Given the description of an element on the screen output the (x, y) to click on. 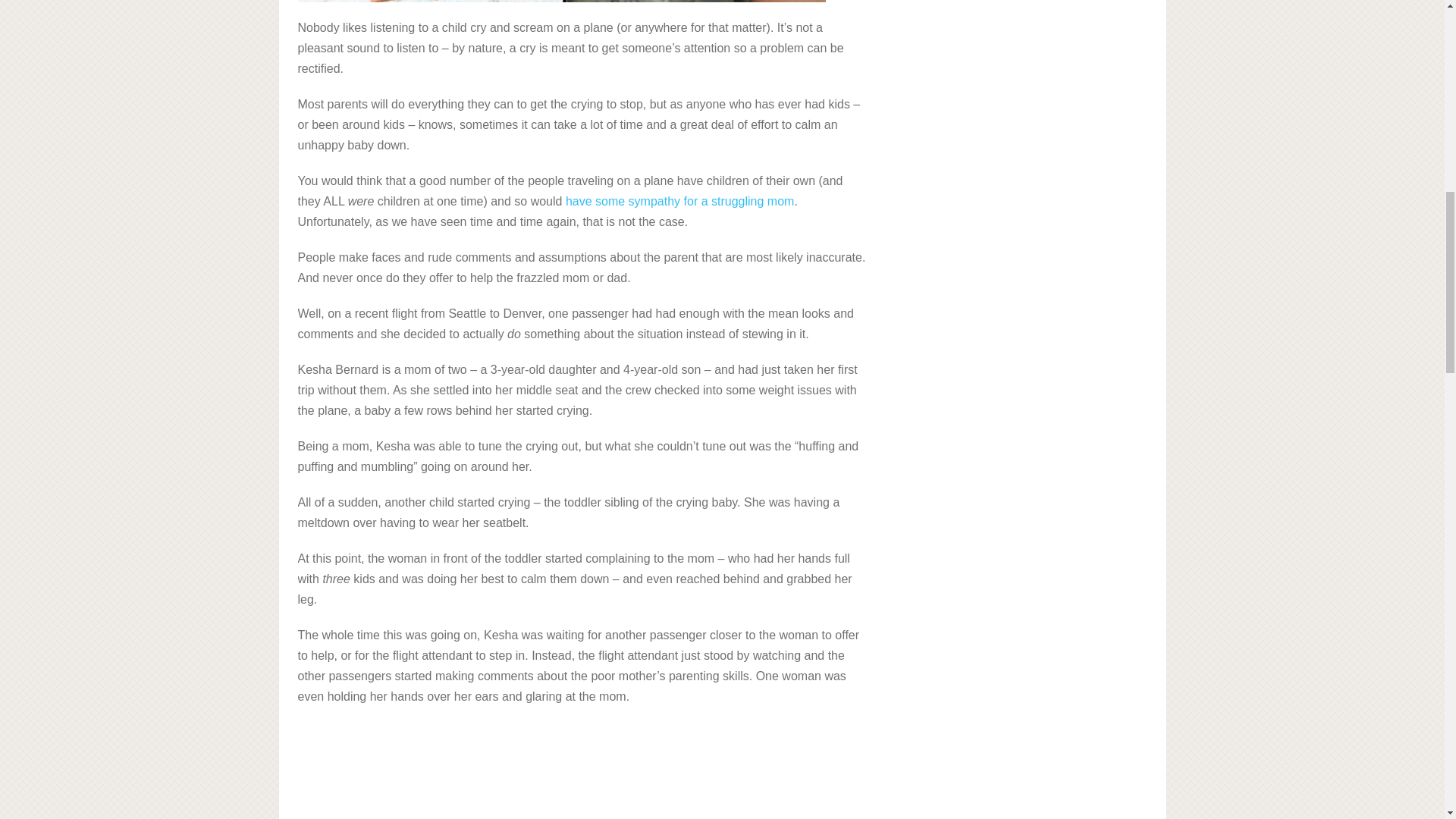
have some sympathy for a struggling mom (679, 201)
Advertisement (581, 770)
